Given the description of an element on the screen output the (x, y) to click on. 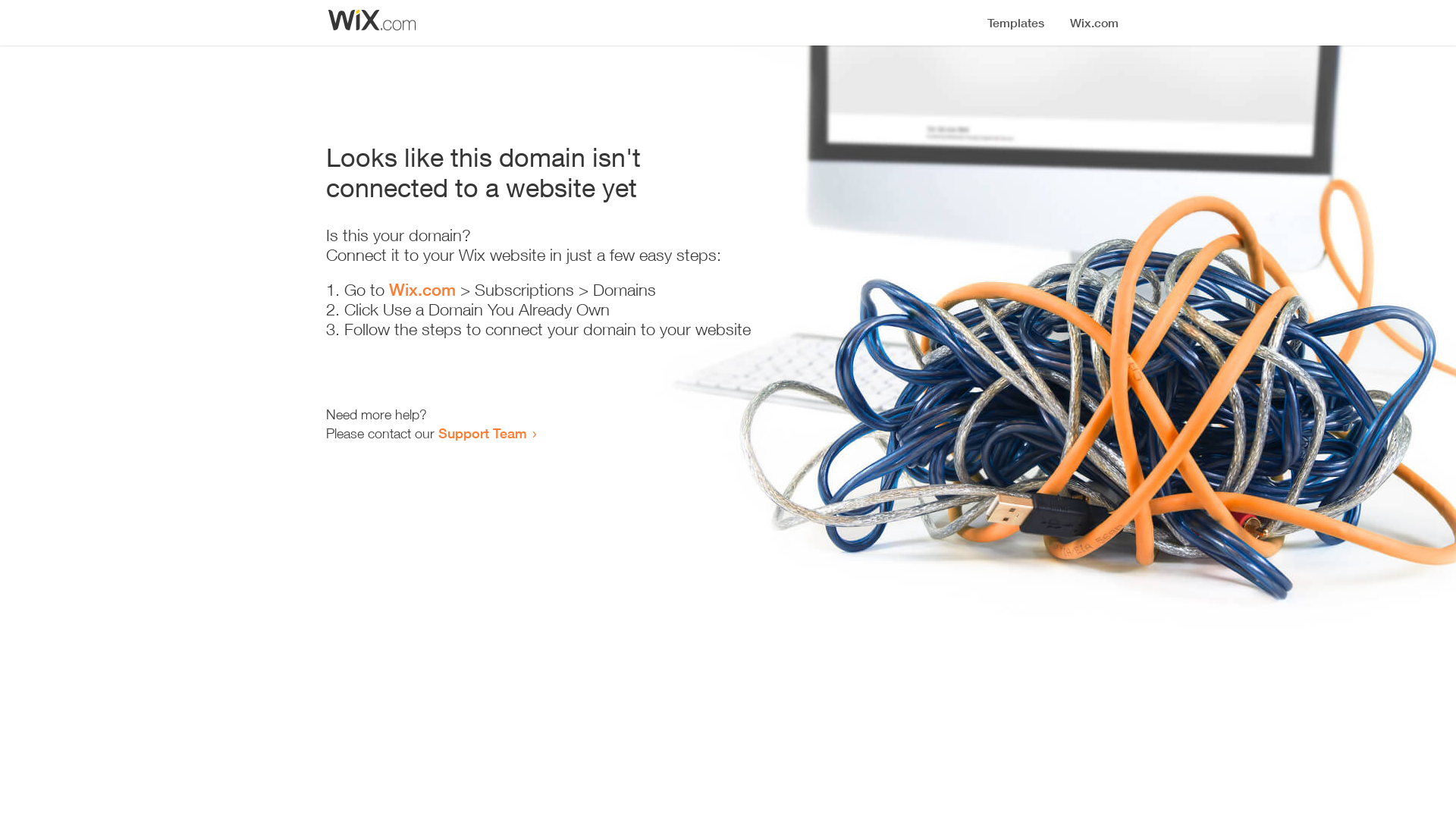
Support Team Element type: text (482, 432)
Wix.com Element type: text (422, 289)
